Given the description of an element on the screen output the (x, y) to click on. 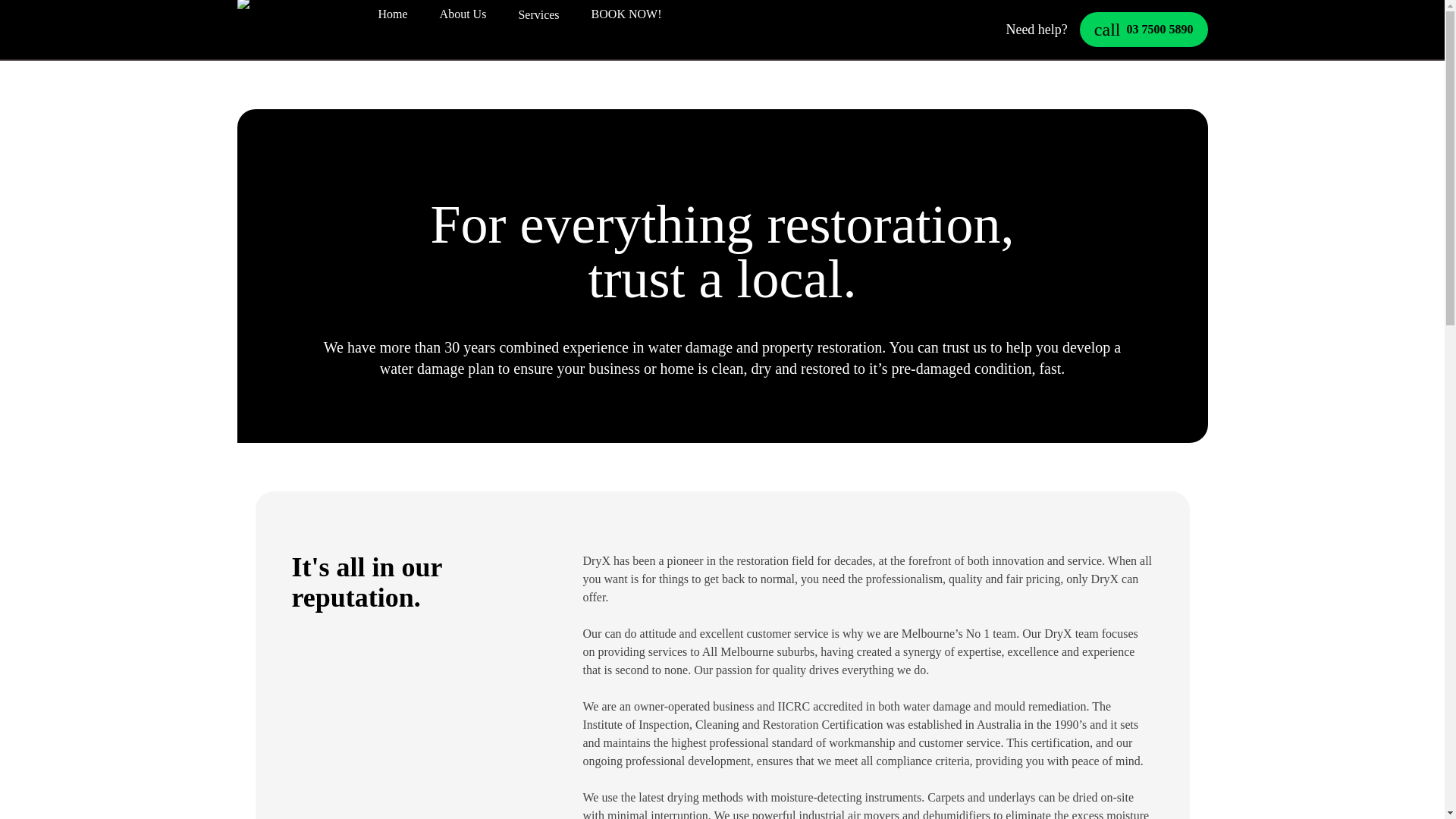
About Us (462, 16)
Services (538, 14)
BOOK NOW! (626, 16)
Home (1144, 29)
